Given the description of an element on the screen output the (x, y) to click on. 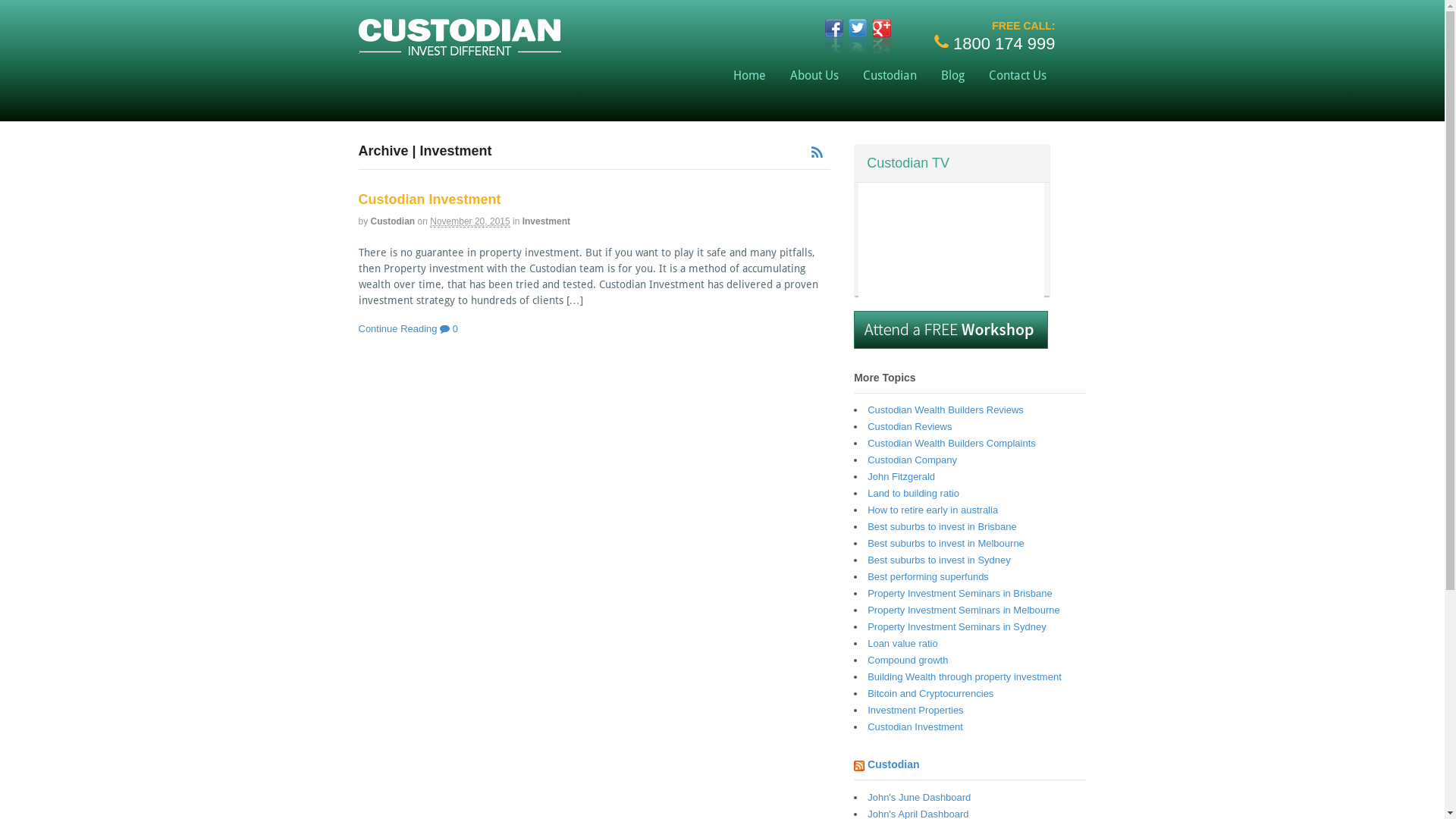
Bitcoin and Cryptocurrencies Element type: text (930, 693)
Land to building ratio Element type: text (913, 492)
Loan value ratio Element type: text (902, 643)
Blog Element type: text (952, 75)
John's June Dashboard Element type: text (918, 797)
Best performing superfunds Element type: text (927, 576)
Investment Properties Element type: text (915, 709)
Custodian Wealth Builders Reviews Element type: text (945, 409)
Home Element type: text (749, 75)
Building Wealth through property investment Element type: text (964, 676)
Continue Reading Element type: text (396, 328)
Custodian Wealth Builders Complaints Element type: text (951, 442)
How to retire early in australia Element type: text (932, 509)
Best suburbs to invest in Sydney Element type: text (938, 559)
Custodian Element type: text (893, 764)
Custodian Investment Element type: text (915, 726)
Property Investment Seminars in Sydney Element type: text (956, 626)
Property Investment Seminars in Brisbane Element type: text (959, 593)
Best suburbs to invest in Melbourne Element type: text (945, 543)
Custodian Investment Element type: text (428, 199)
Compound growth Element type: text (907, 659)
John Fitzgerald Element type: text (901, 476)
Best suburbs to invest in Brisbane Element type: text (941, 526)
0 Element type: text (448, 328)
Property Investment Seminars in Melbourne Element type: text (963, 609)
Residential Property Investment Element type: hover (458, 48)
Contact Us Element type: text (1017, 75)
Investment Element type: text (546, 221)
Custodian Reviews Element type: text (909, 426)
About Us Element type: text (814, 75)
Custodian Element type: text (392, 221)
Custodian Company Element type: text (912, 459)
Custodian Element type: text (889, 75)
